Given the description of an element on the screen output the (x, y) to click on. 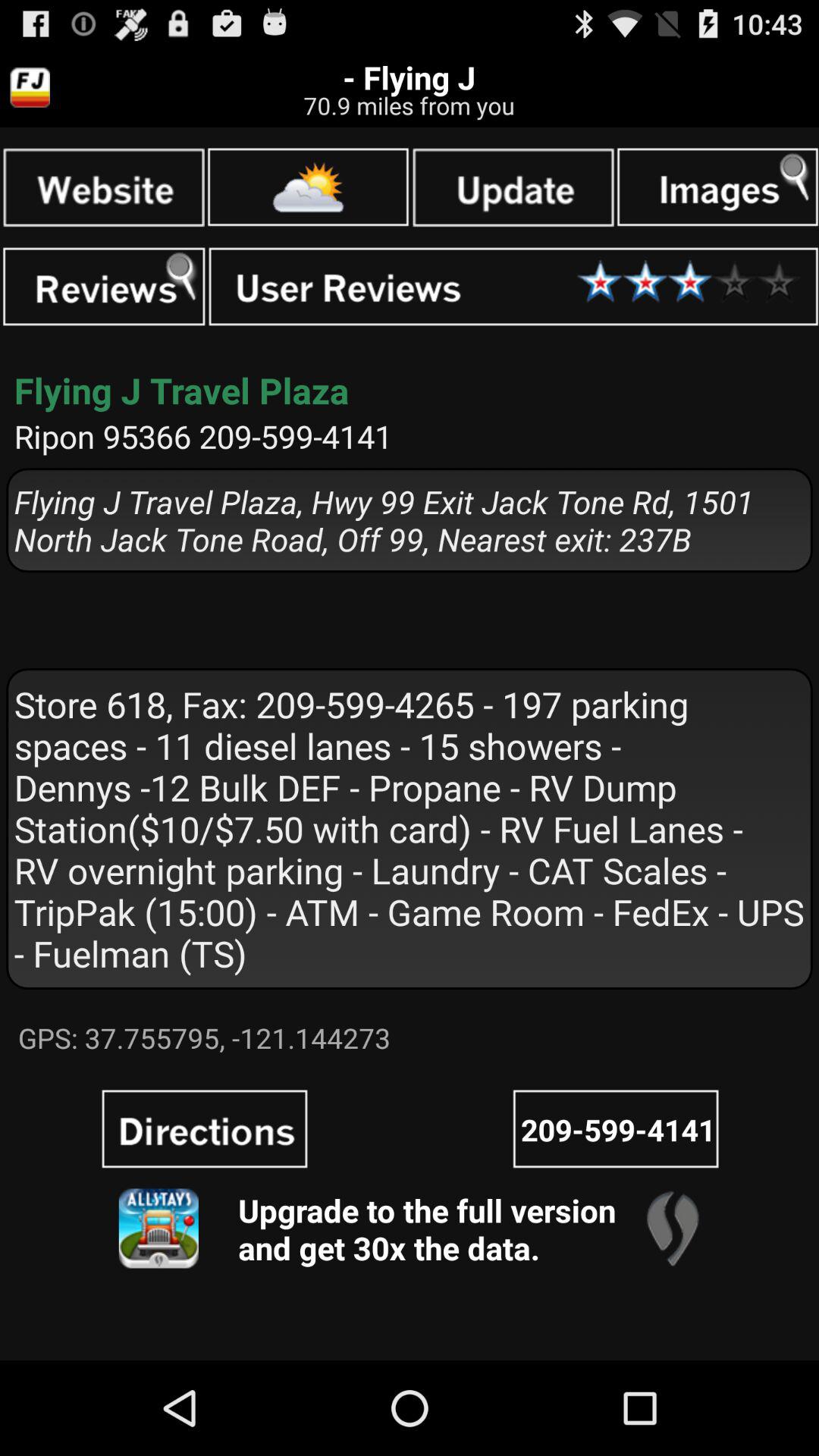
upgrade to full version of app (158, 1228)
